Given the description of an element on the screen output the (x, y) to click on. 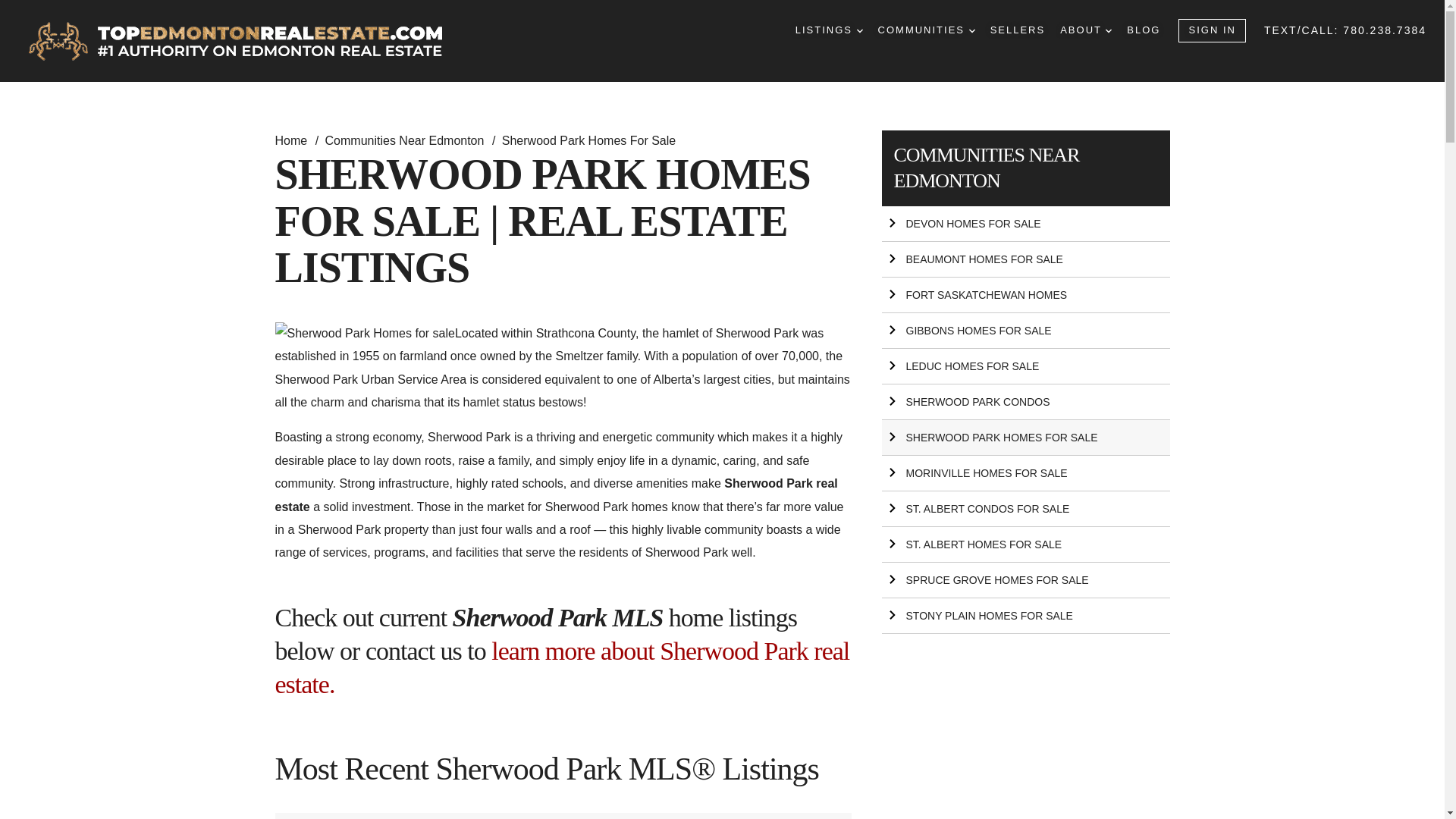
Communities Near Edmonton (405, 140)
DROPDOWN ARROW (972, 30)
COMMUNITIES DROPDOWN ARROW (926, 30)
ABOUT DROPDOWN ARROW (1085, 30)
LISTINGS DROPDOWN ARROW (828, 30)
SELLERS (1017, 30)
Sherwood Park Homes For Sale (588, 140)
BLOG (1143, 30)
DROPDOWN ARROW (860, 30)
contact us (413, 651)
